Given the description of an element on the screen output the (x, y) to click on. 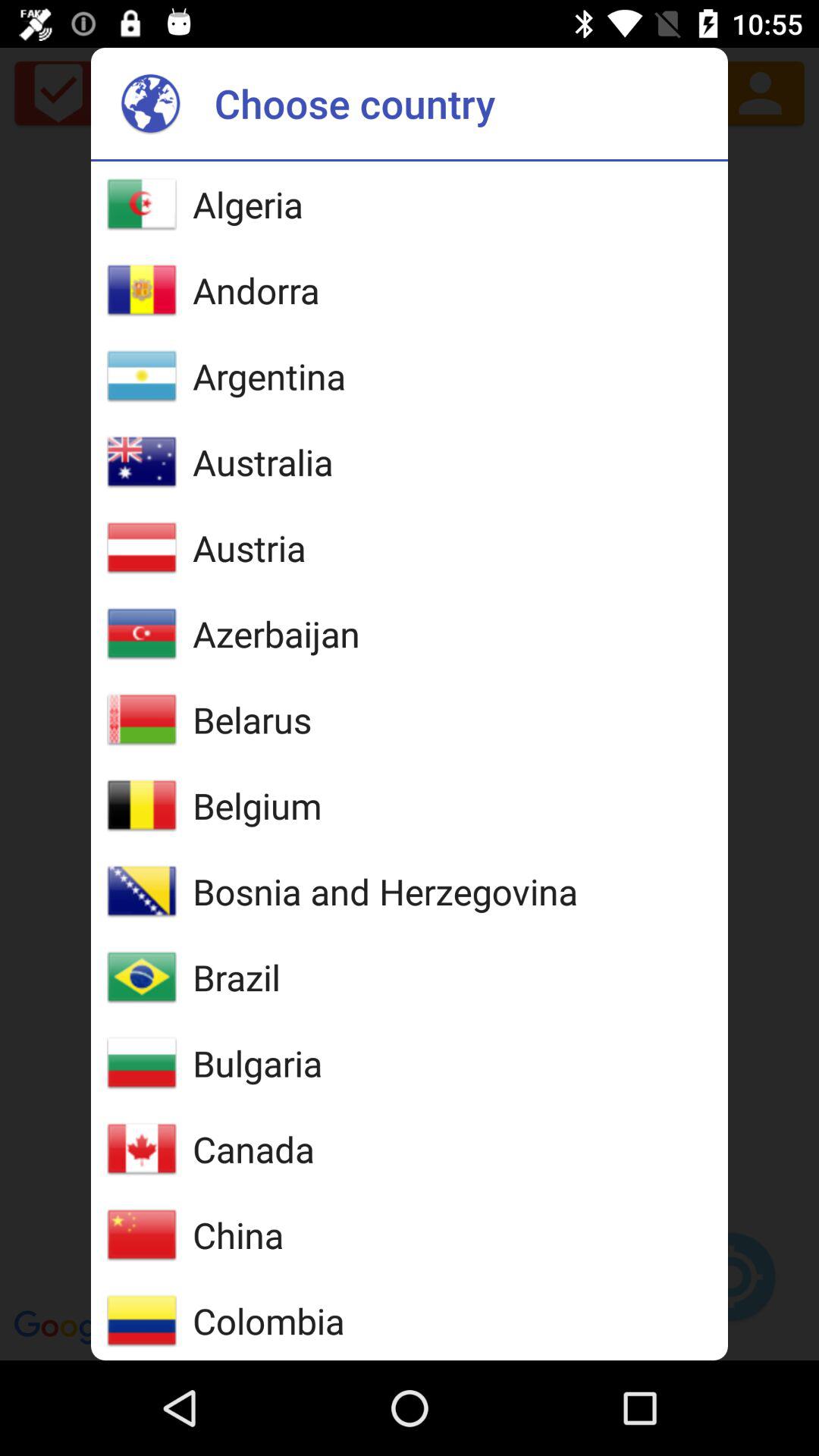
click argentina item (268, 376)
